Given the description of an element on the screen output the (x, y) to click on. 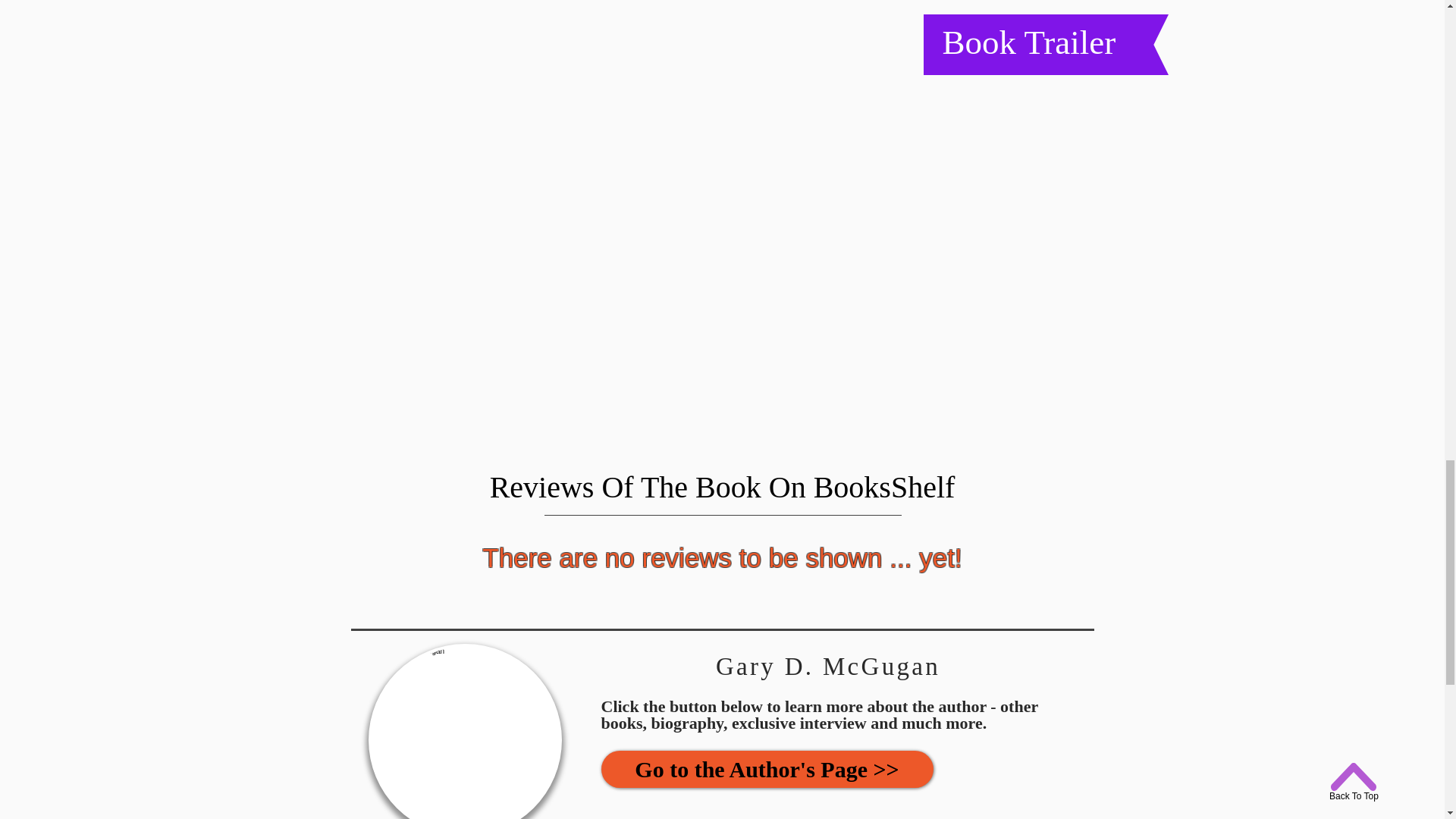
Gary D. McGugan (465, 731)
